Given the description of an element on the screen output the (x, y) to click on. 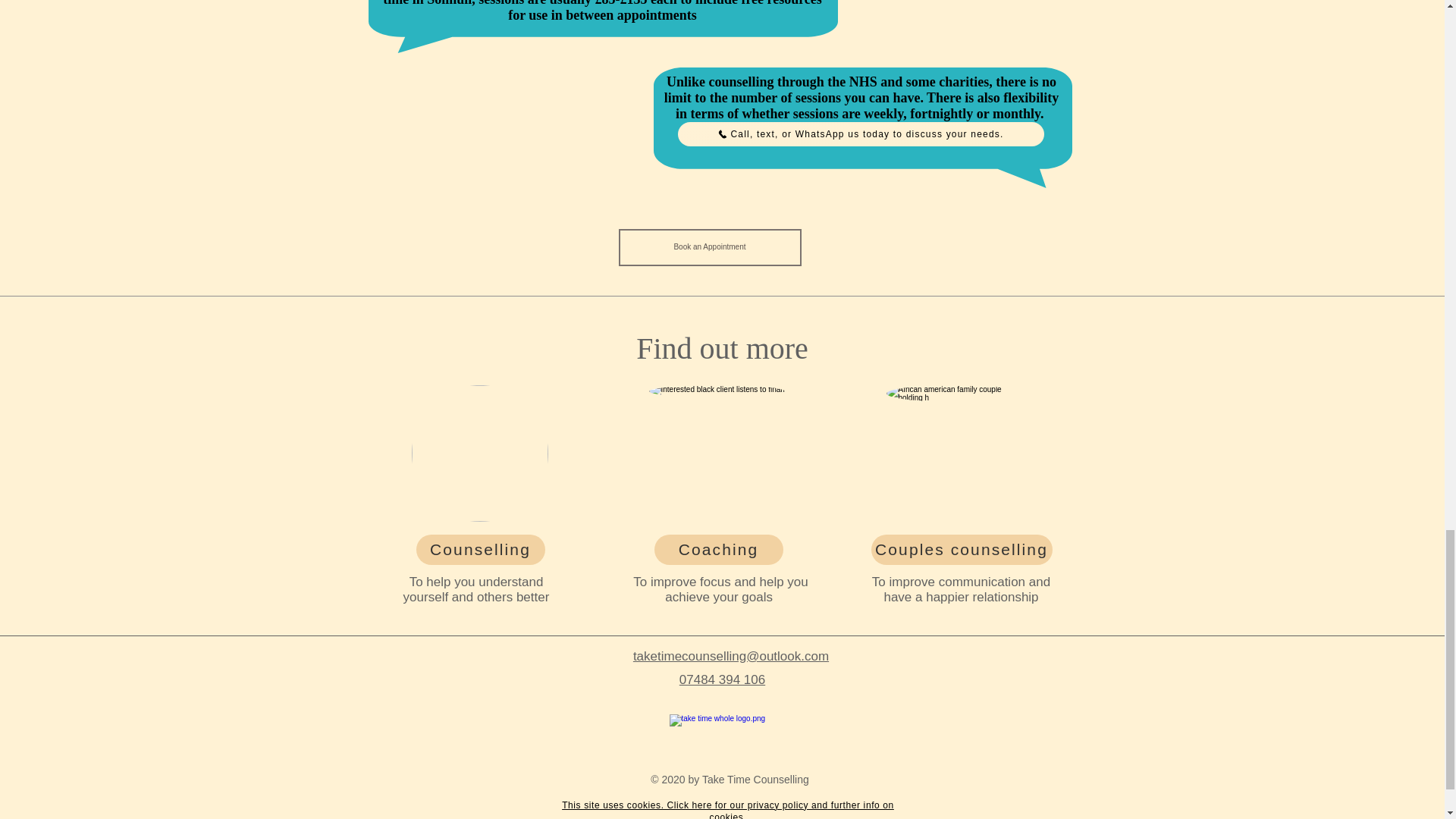
Book an Appointment (710, 247)
Counseling (478, 452)
Young Women Brainstorming (953, 452)
Consultation (717, 452)
Counselling (479, 549)
Coaching (718, 549)
Call, text, or WhatsApp us today to discuss your needs. (860, 134)
Couples counselling (960, 549)
07484 394 106 (722, 679)
